Given the description of an element on the screen output the (x, y) to click on. 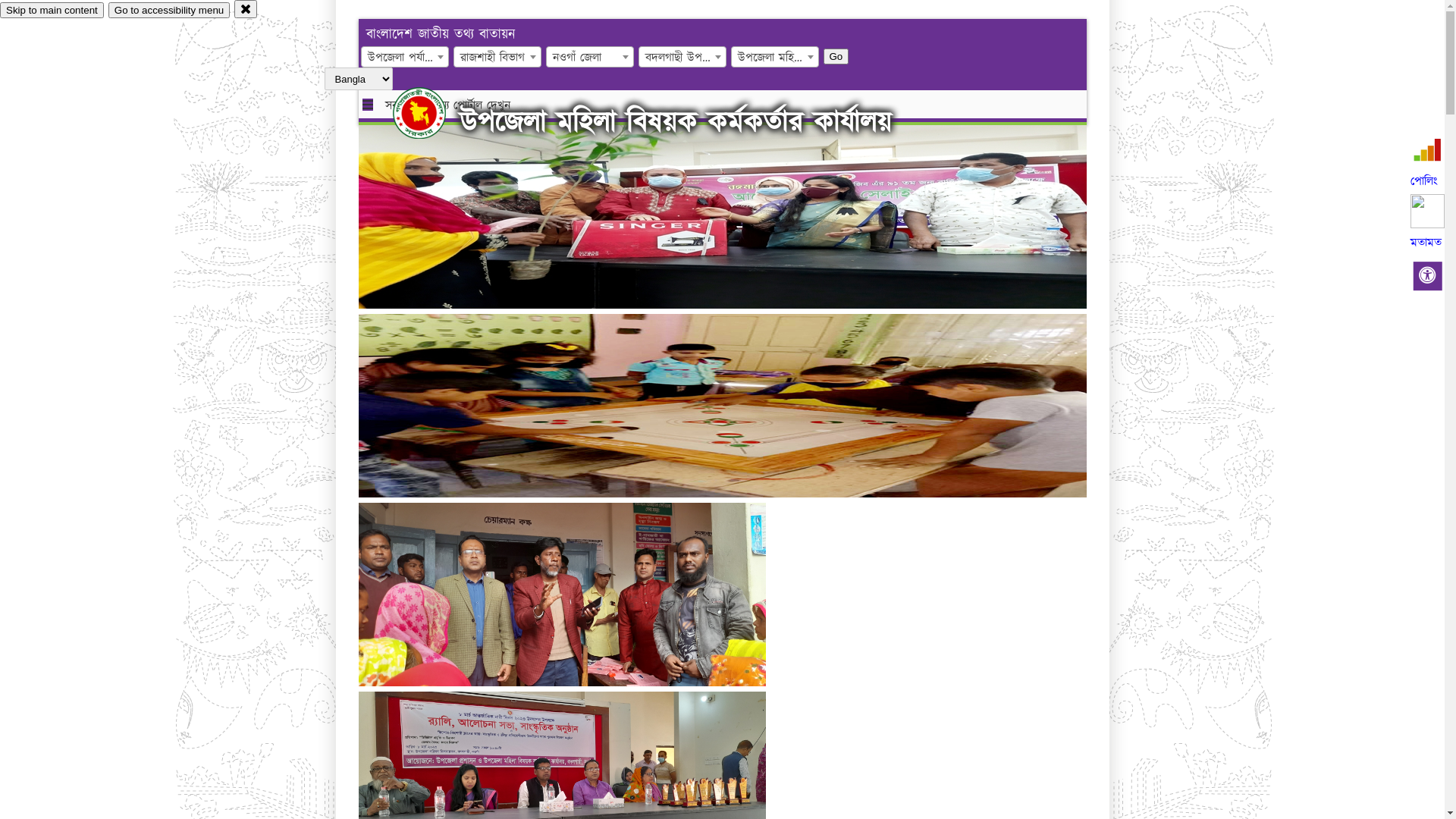
Skip to main content Element type: text (51, 10)
Go Element type: text (836, 56)
Go to accessibility menu Element type: text (168, 10)

                
             Element type: hover (431, 112)
close Element type: hover (245, 9)
